Given the description of an element on the screen output the (x, y) to click on. 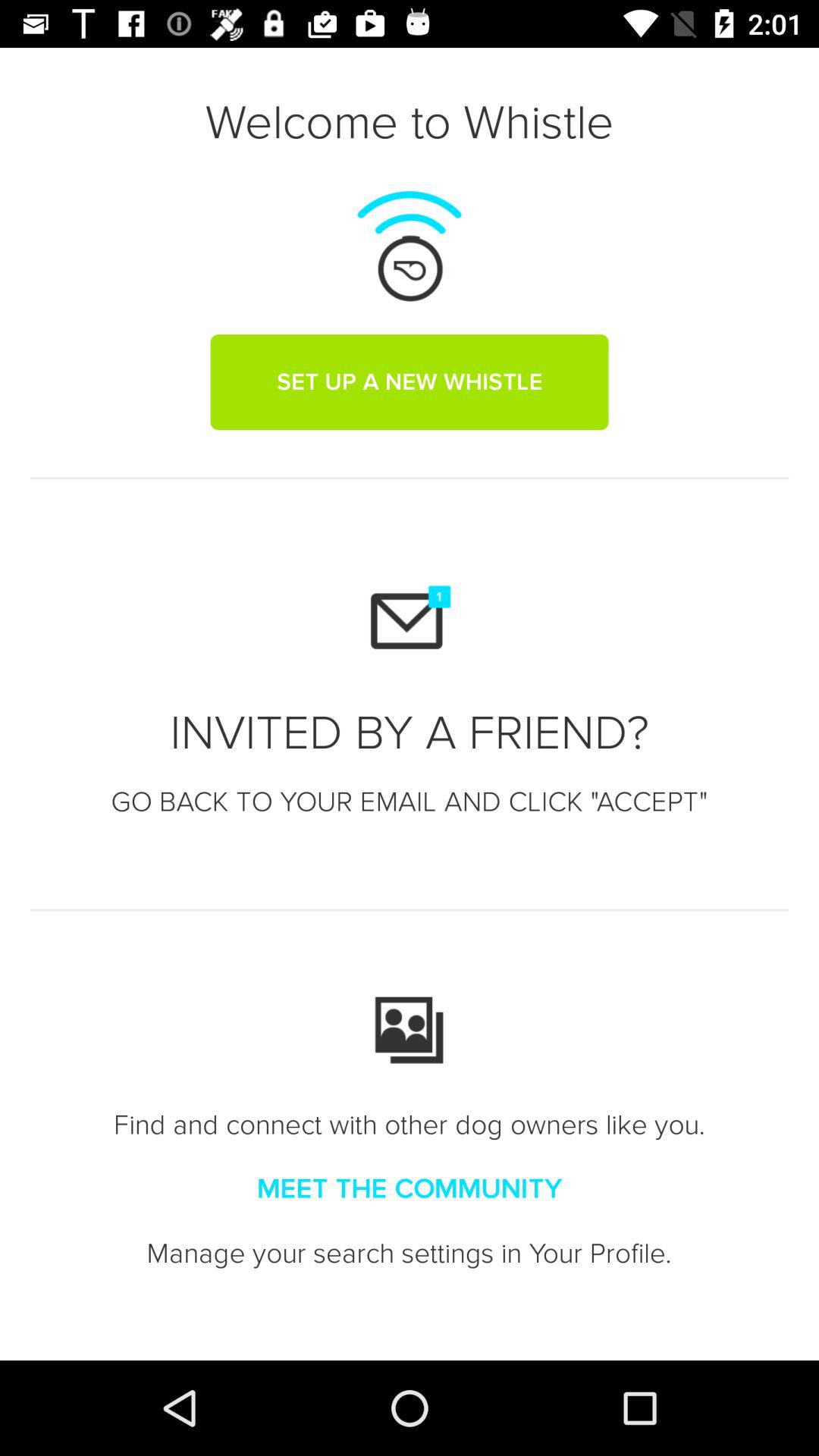
jump until the set up a item (409, 381)
